Given the description of an element on the screen output the (x, y) to click on. 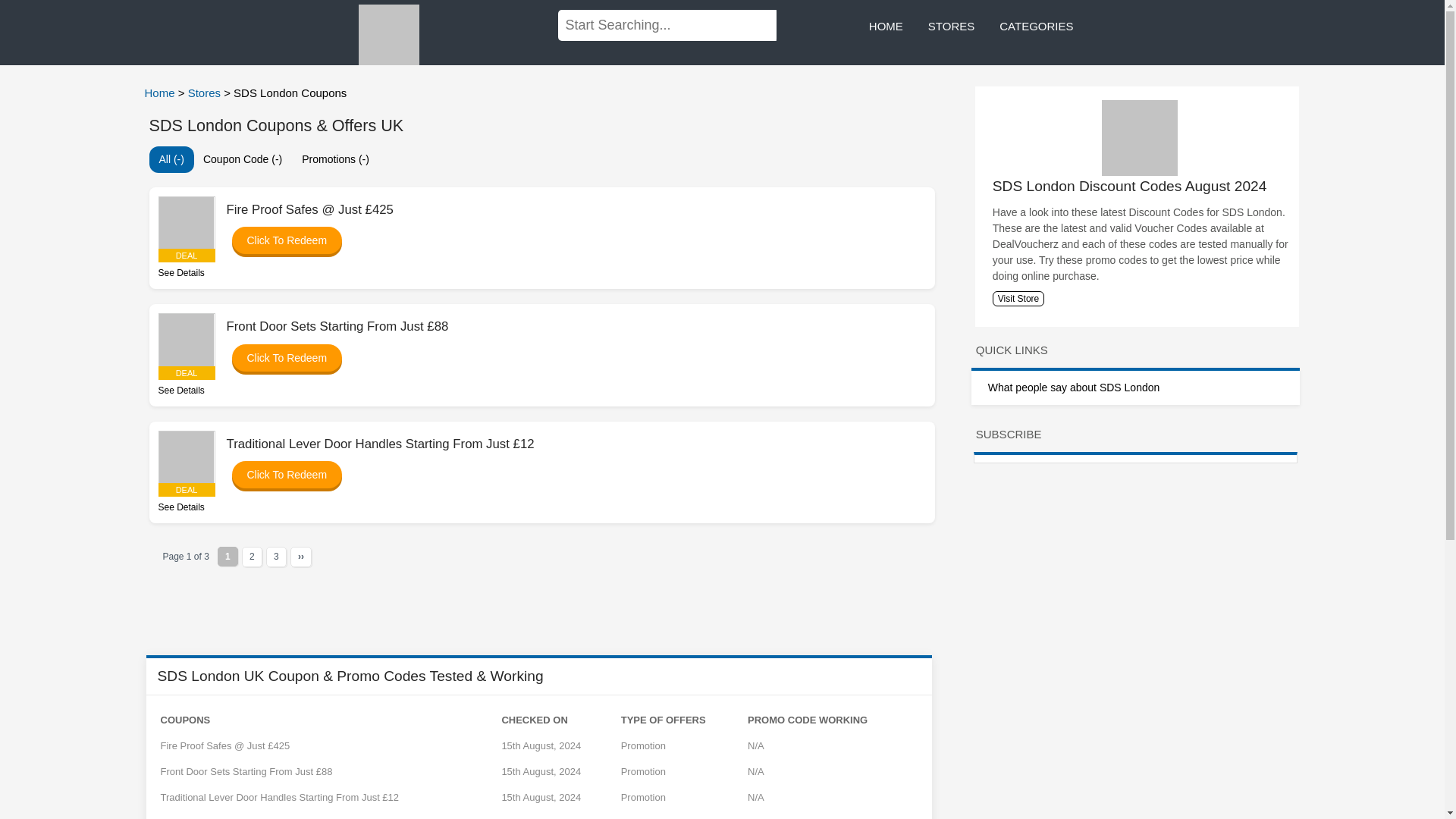
Click To Redeem (279, 239)
Click To Redeem (279, 357)
CATEGORIES (1035, 27)
Home (160, 92)
HOME (885, 27)
STORES (951, 27)
Stores (205, 92)
